Given the description of an element on the screen output the (x, y) to click on. 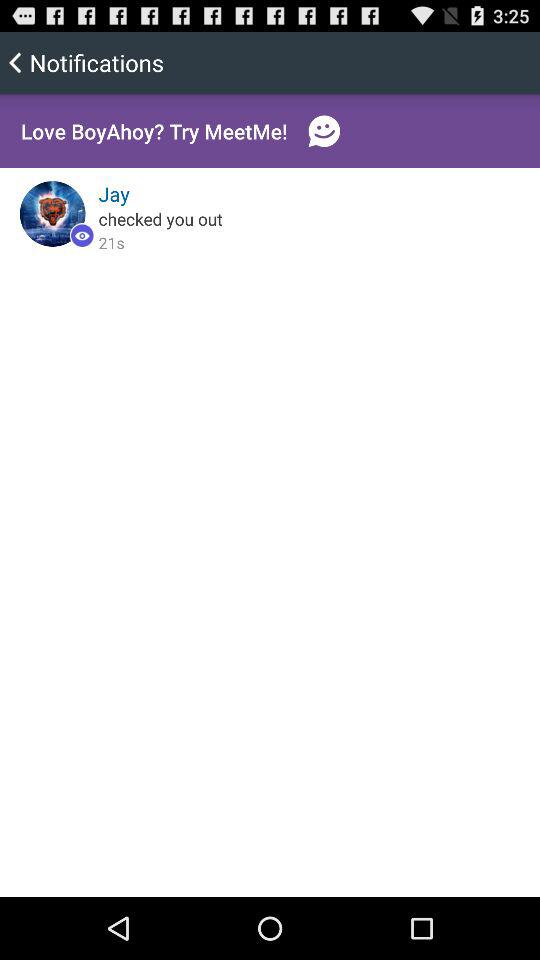
press icon below the jay (160, 218)
